Given the description of an element on the screen output the (x, y) to click on. 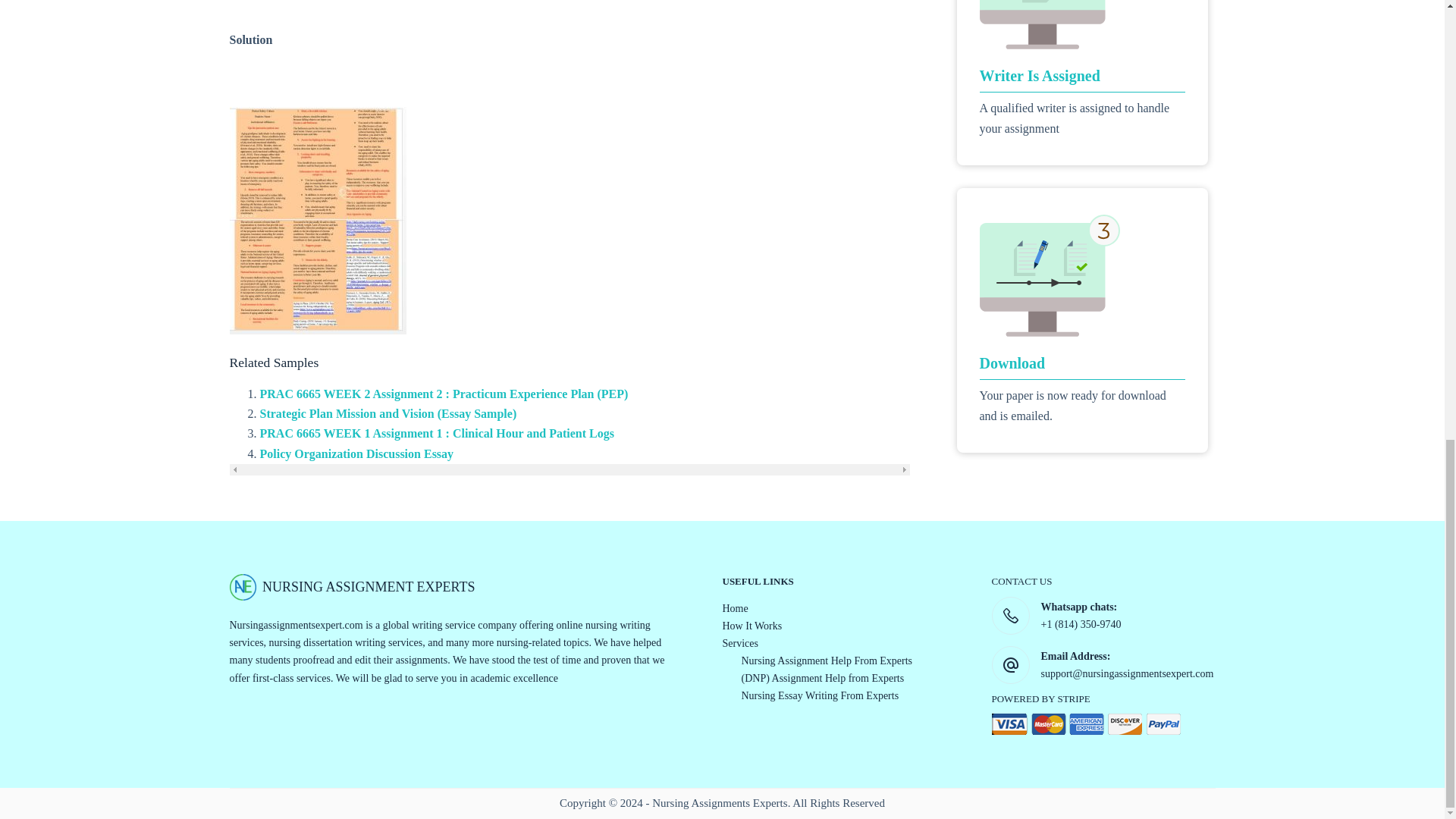
Policy Organization Discussion Essay (355, 453)
Nursing Assignment Help From Experts (826, 660)
How It Works (751, 625)
Home (735, 608)
Services (739, 643)
Policy Organization Discussion Essay (355, 453)
